Given the description of an element on the screen output the (x, y) to click on. 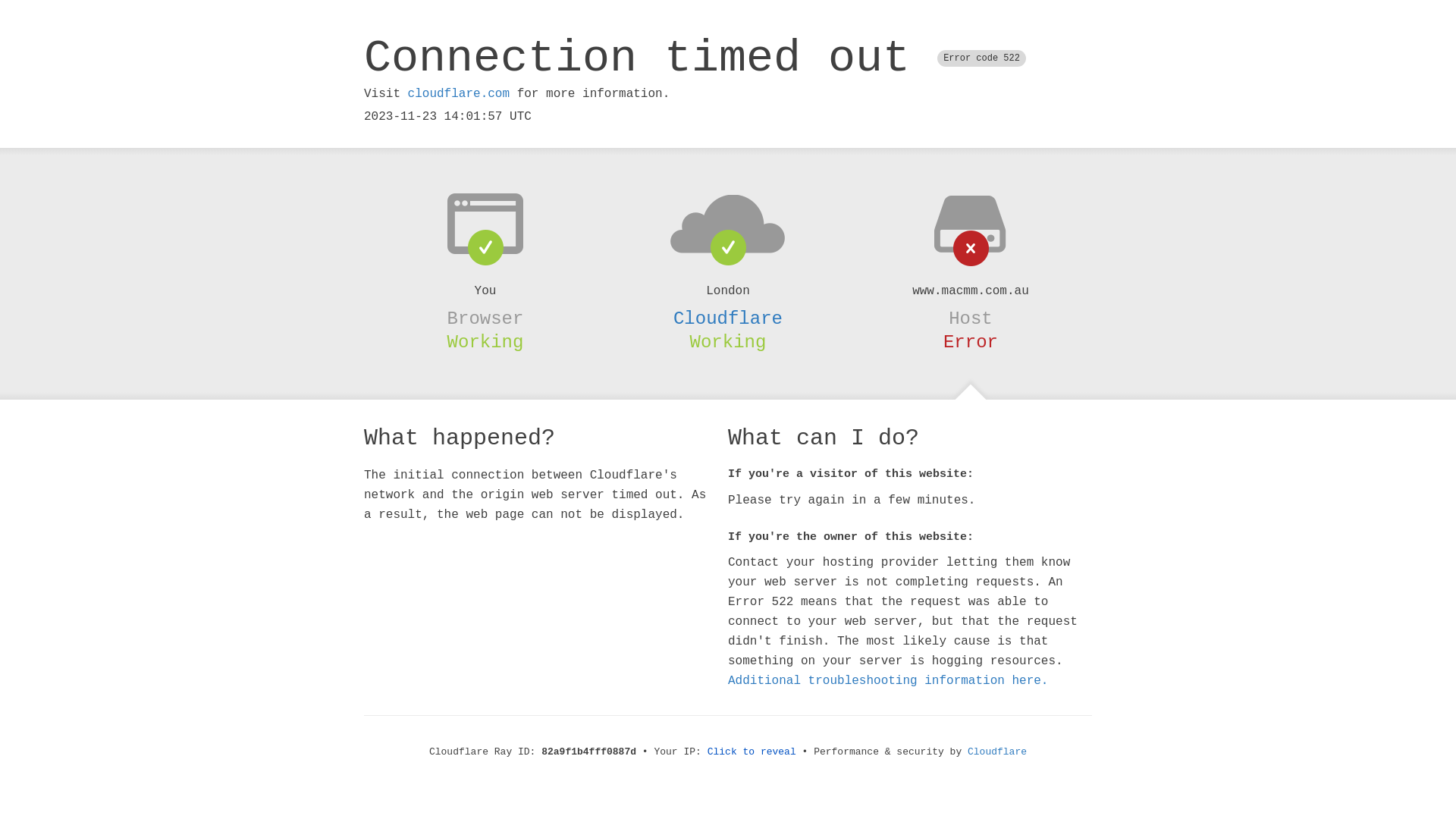
cloudflare.com Element type: text (458, 93)
Cloudflare Element type: text (996, 751)
Click to reveal Element type: text (751, 751)
Additional troubleshooting information here. Element type: text (888, 680)
Cloudflare Element type: text (727, 318)
